Given the description of an element on the screen output the (x, y) to click on. 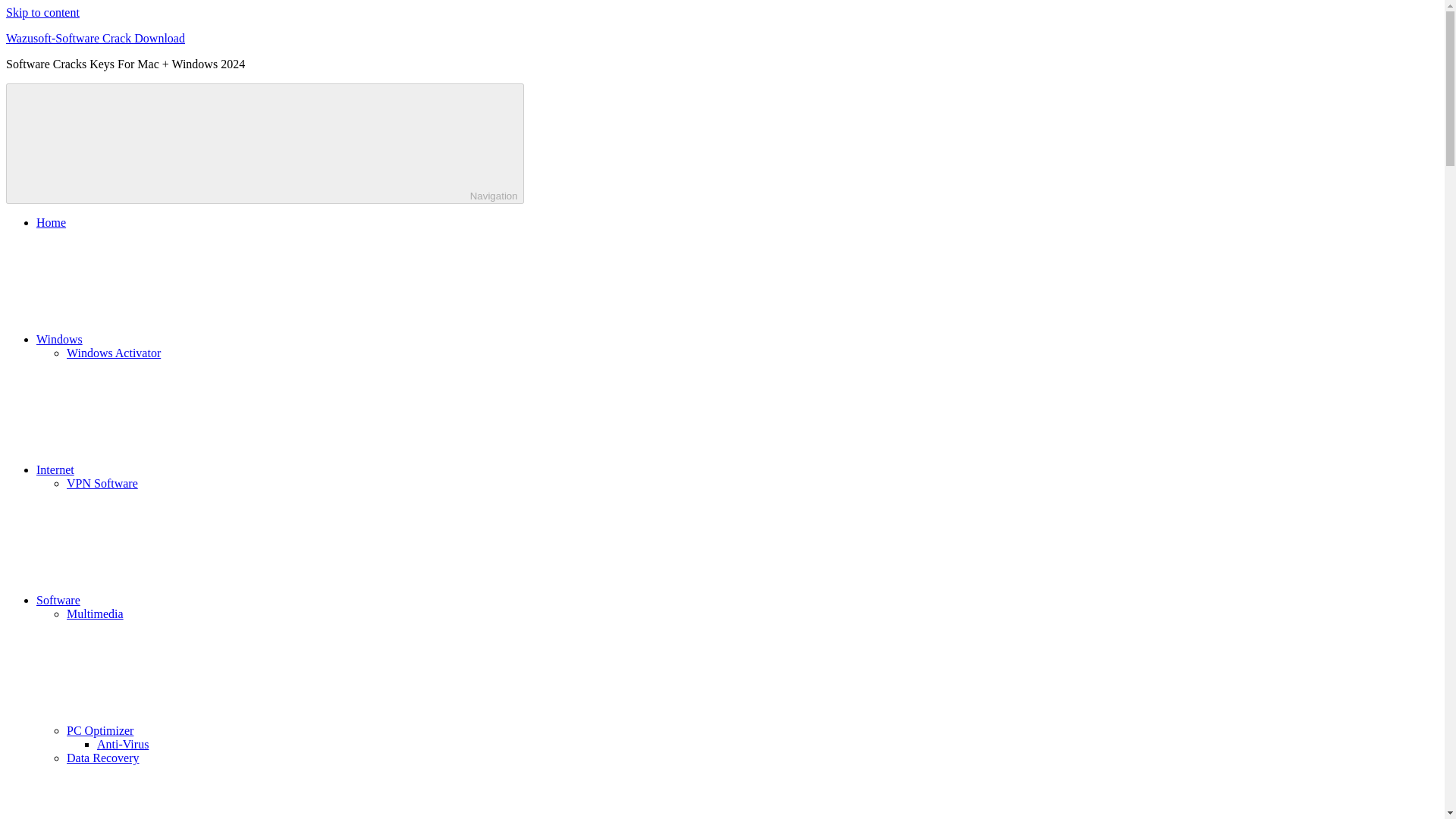
VPN Software (102, 482)
Windows (173, 338)
Home (50, 222)
Internet (168, 469)
Wazusoft-Software Crack Download (94, 38)
Anti-Virus (122, 744)
Windows Activator (113, 352)
PC Optimizer (213, 730)
Skip to content (42, 11)
Data Recovery (102, 757)
